Given the description of an element on the screen output the (x, y) to click on. 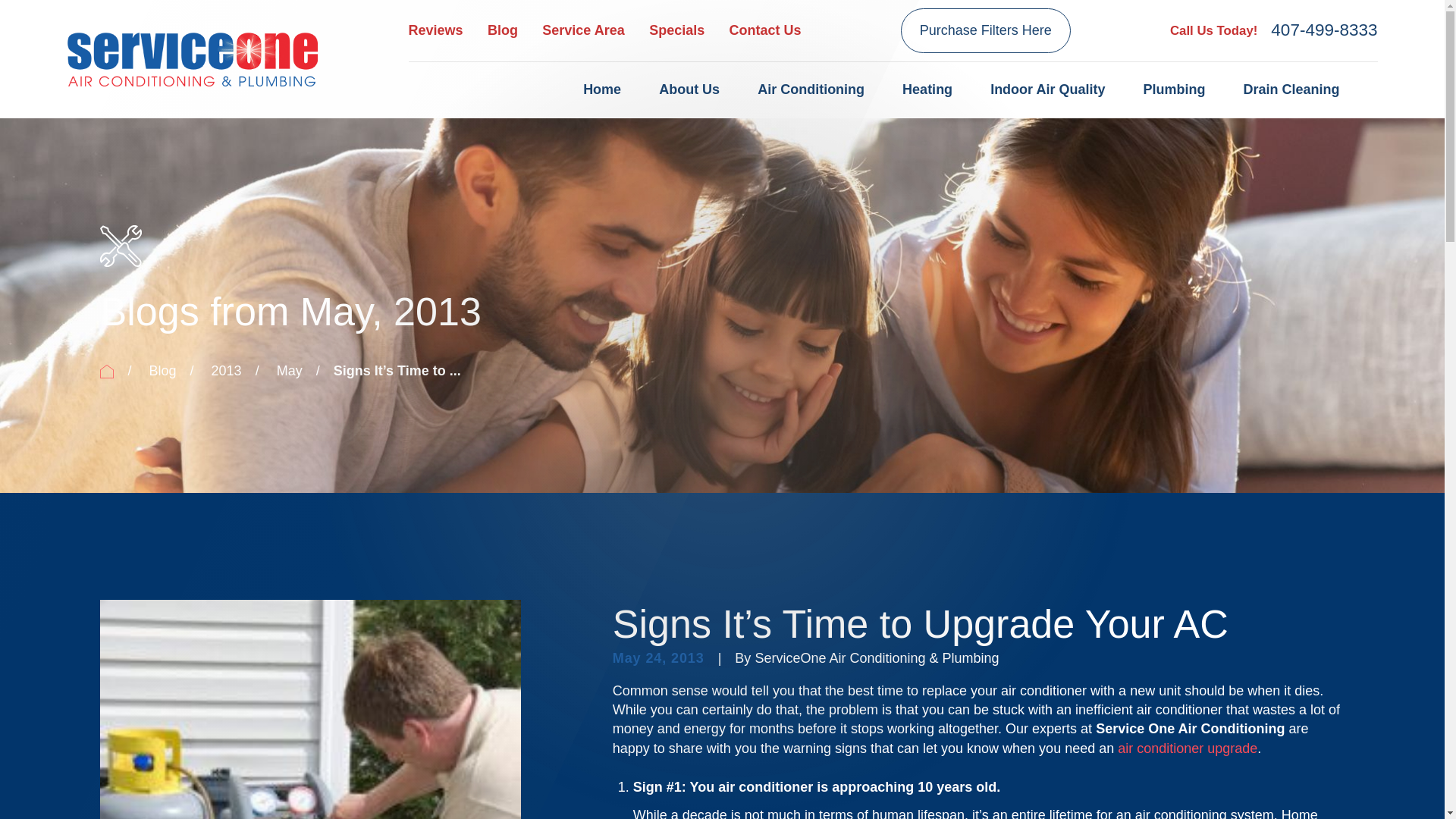
Contact Us (765, 29)
Reviews (435, 29)
About Us (689, 90)
407-499-8333 (1324, 30)
Home (191, 58)
Service Area (582, 29)
Blog (502, 29)
Home (602, 90)
Air Conditioning Upgrade (1187, 748)
Go Home (106, 371)
Specials (676, 29)
Purchase Filters Here (985, 31)
